Given the description of an element on the screen output the (x, y) to click on. 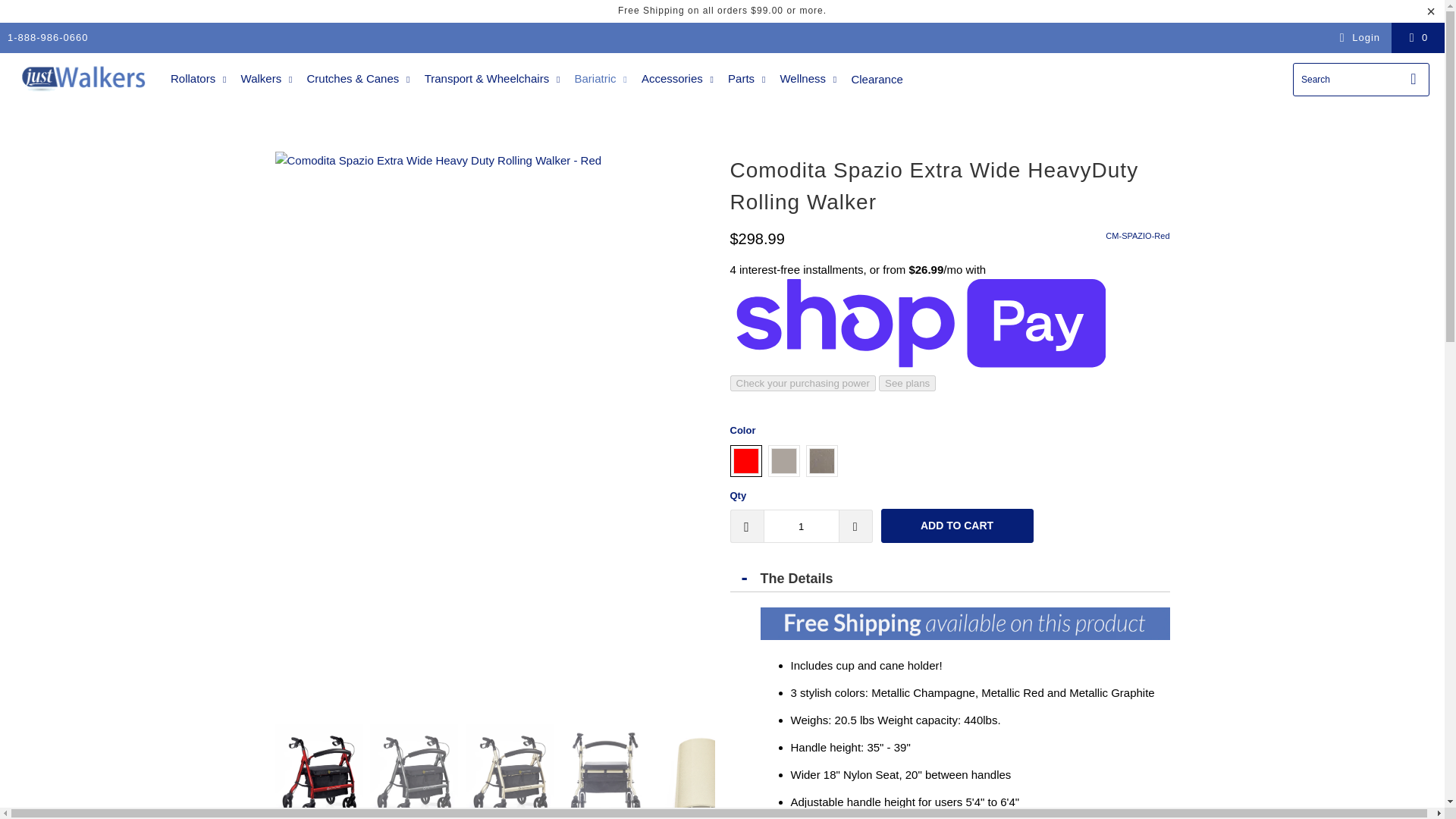
My Account  (1357, 37)
1 (800, 525)
Just Walkers (84, 78)
